Given the description of an element on the screen output the (x, y) to click on. 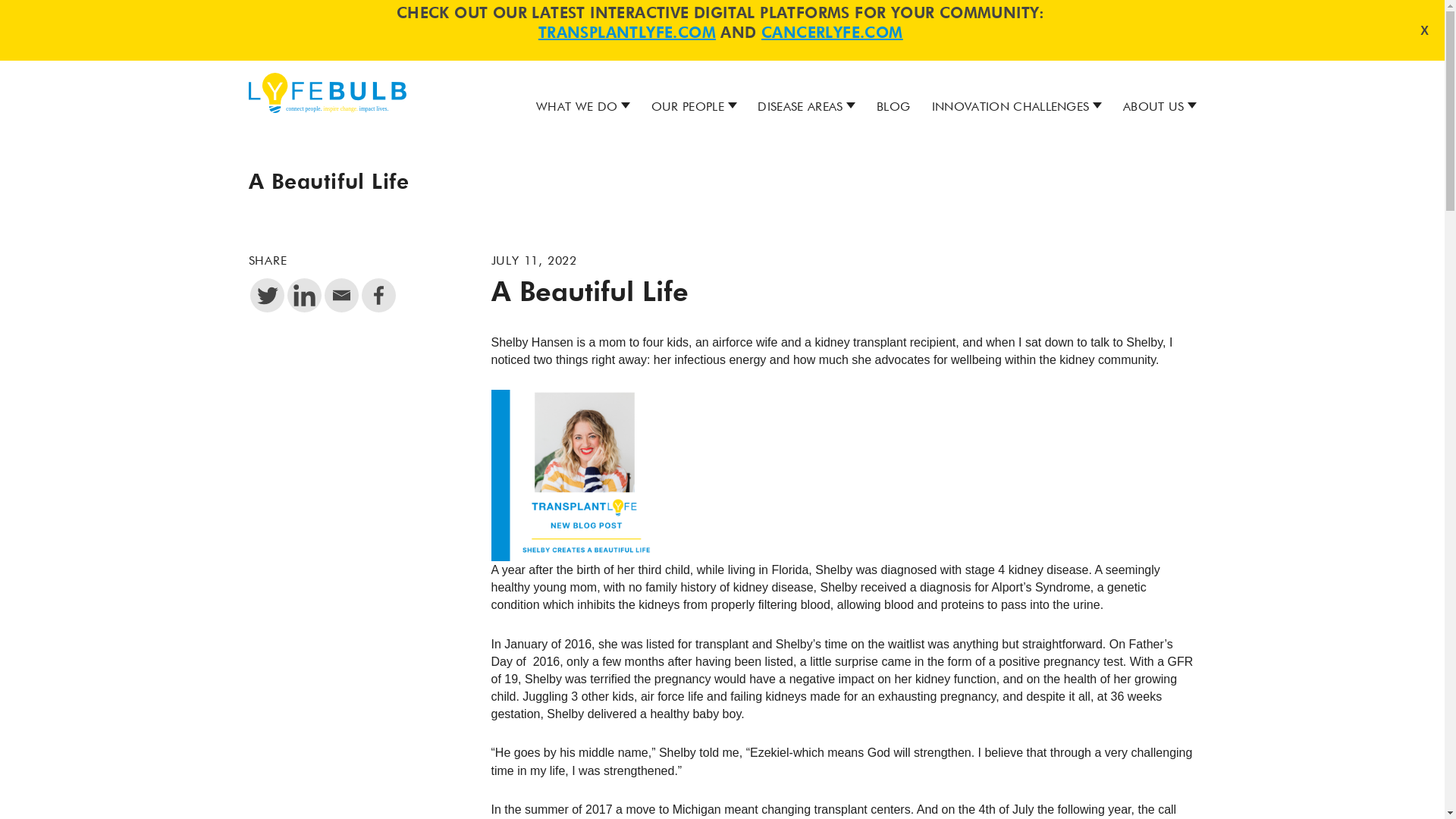
CANCERLYFE.COM (831, 32)
Linkedin (303, 295)
DISEASE AREAS (800, 107)
BLOG (893, 107)
ABOUT US (1153, 107)
INNOVATION CHALLENGES (1010, 107)
Twitter (266, 295)
Facebook (377, 295)
TRANSPLANTLYFE.COM (627, 32)
WHAT WE DO (576, 107)
Email (341, 295)
OUR PEOPLE (686, 107)
